Given the description of an element on the screen output the (x, y) to click on. 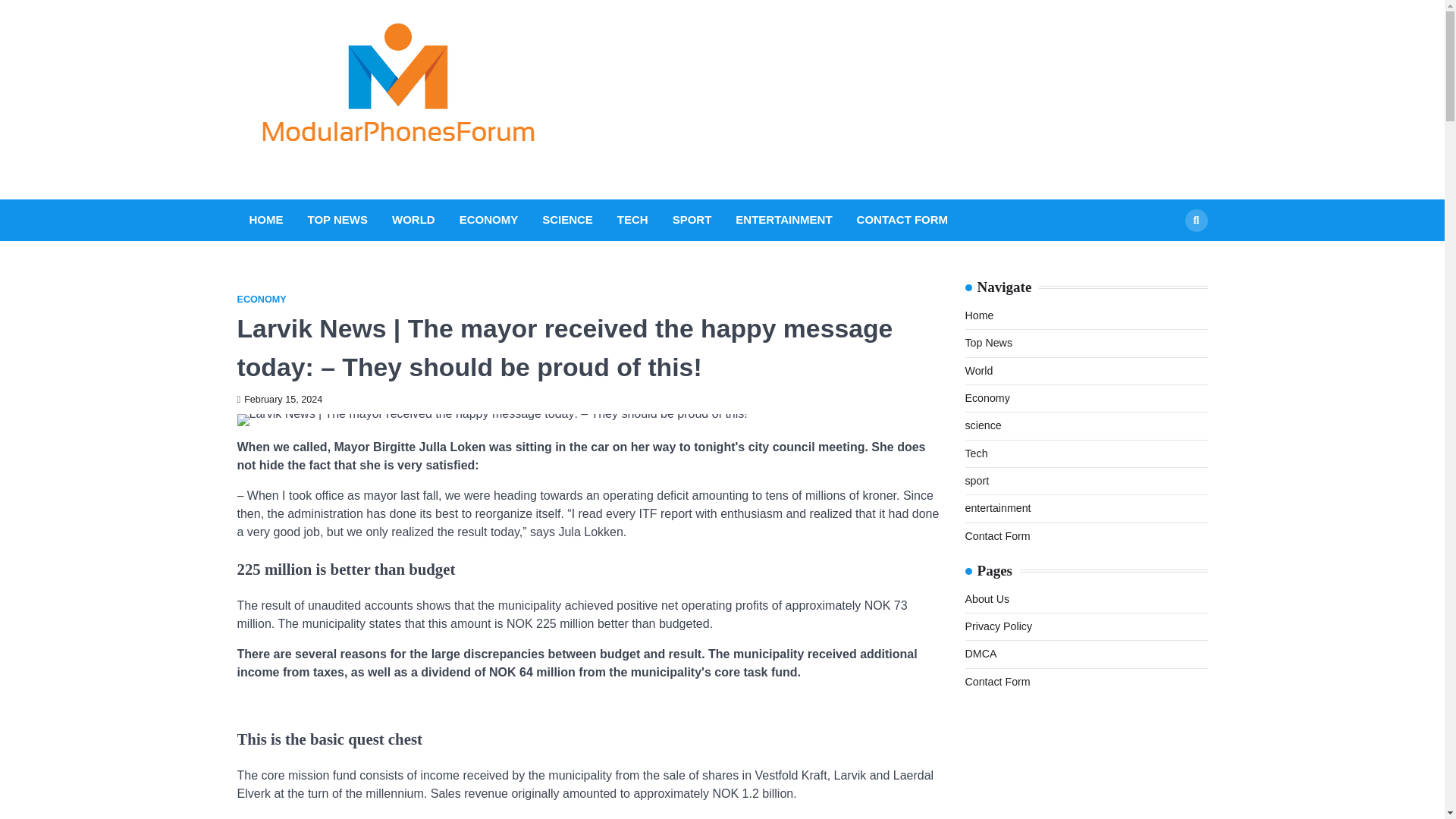
ECONOMY (260, 299)
ENTERTAINMENT (783, 220)
About Us (986, 598)
Home (977, 315)
ECONOMY (488, 220)
Privacy Policy (997, 625)
Tech (975, 453)
February 15, 2024 (278, 398)
science (982, 425)
Contact Form (996, 535)
TECH (632, 220)
Top News (987, 342)
DMCA (979, 653)
HOME (265, 220)
Economy (986, 398)
